Given the description of an element on the screen output the (x, y) to click on. 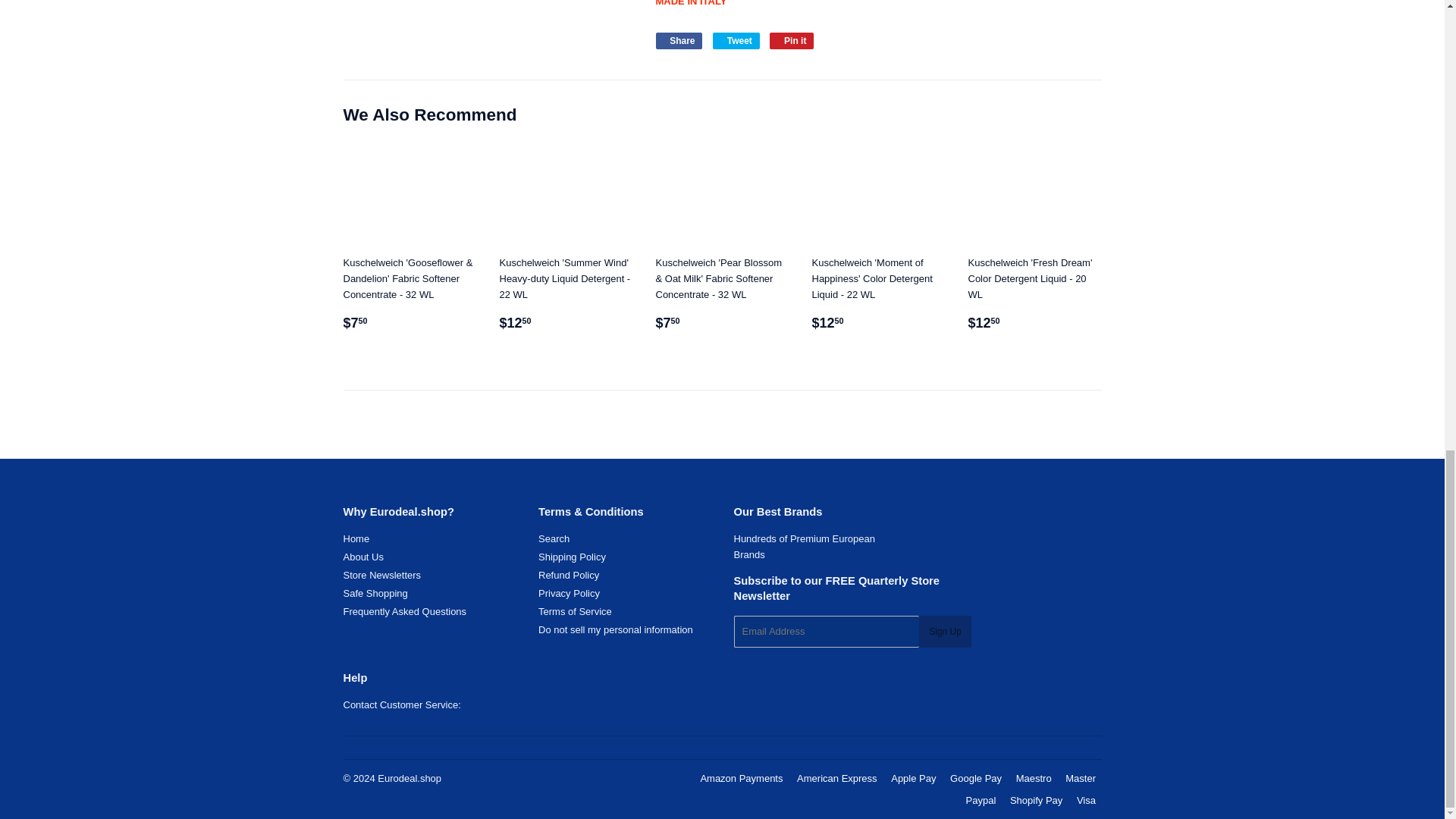
Pin on Pinterest (791, 40)
Customer Service (401, 704)
Share on Facebook (678, 40)
Tweet on Twitter (736, 40)
